Given the description of an element on the screen output the (x, y) to click on. 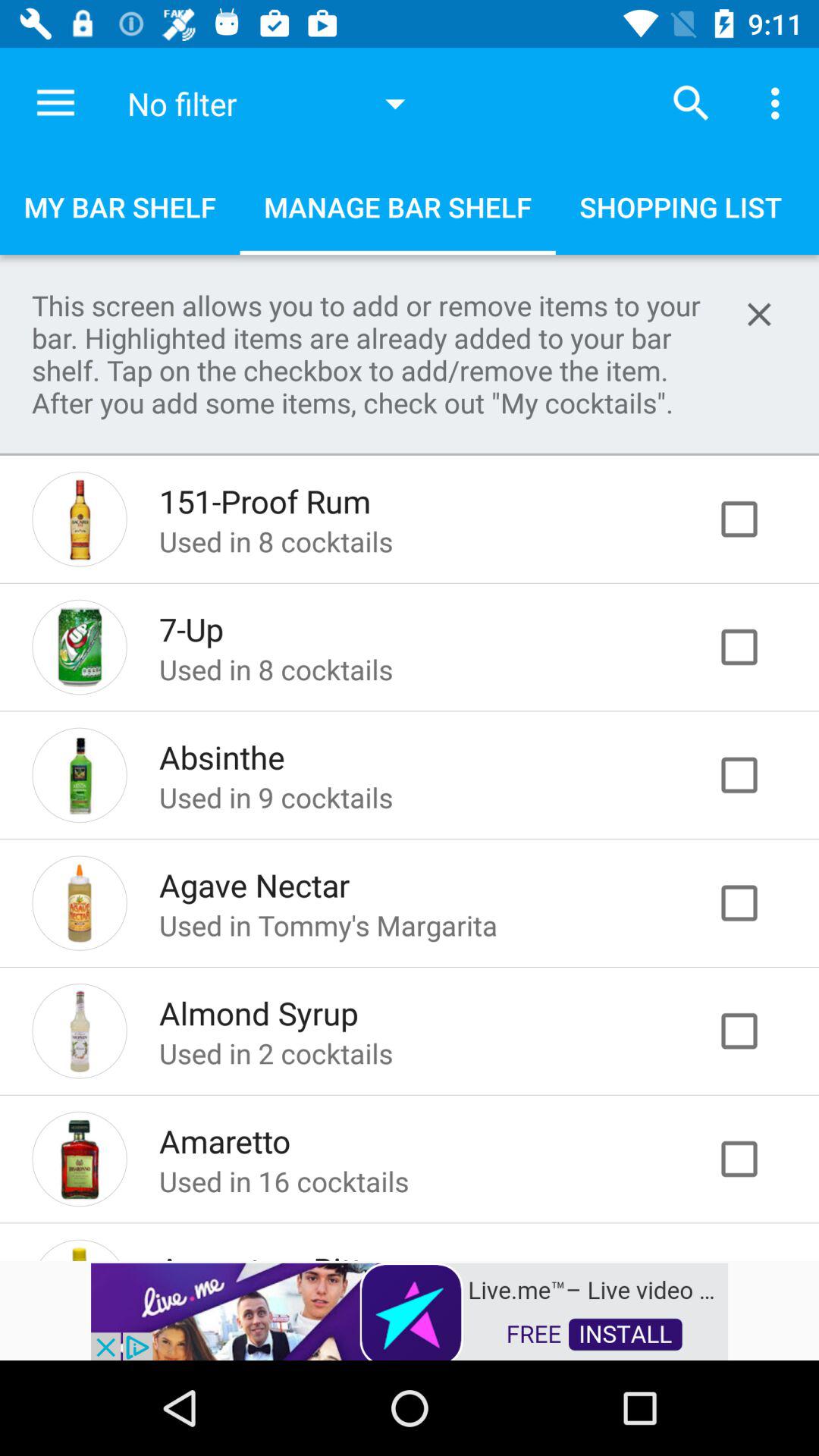
close announcement (759, 314)
